Given the description of an element on the screen output the (x, y) to click on. 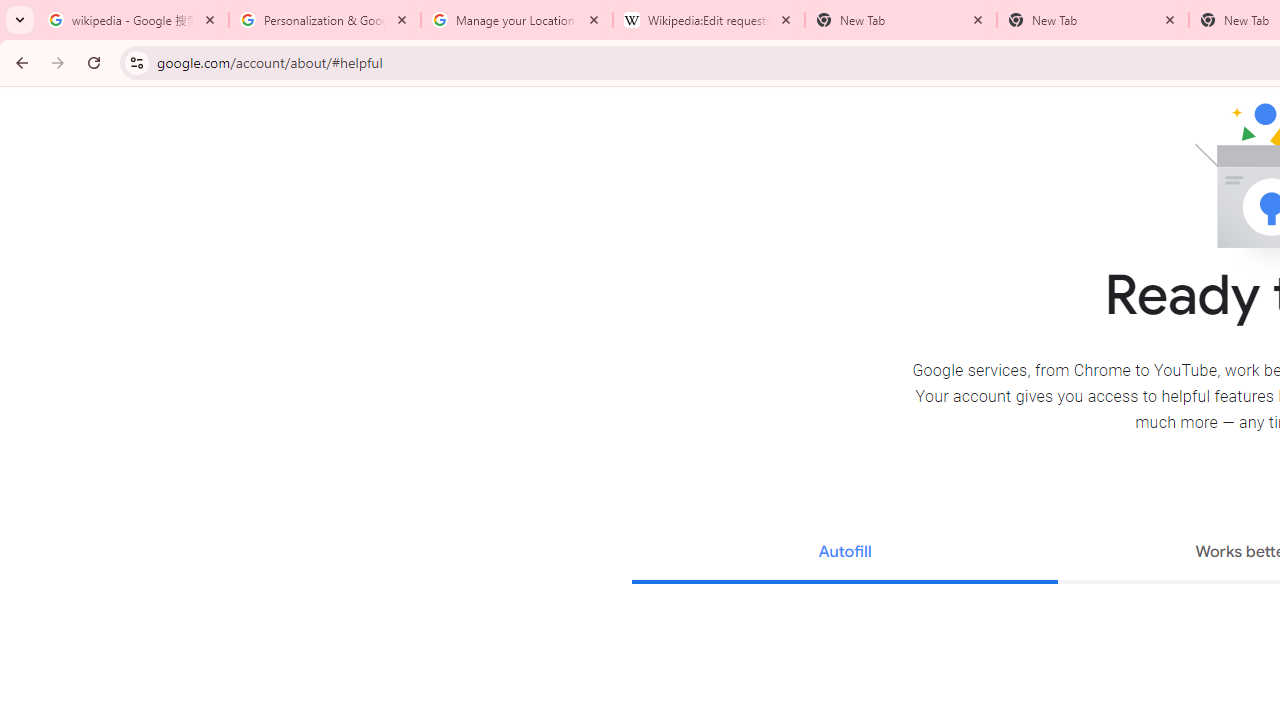
Wikipedia:Edit requests - Wikipedia (709, 20)
New Tab (1093, 20)
Manage your Location History - Google Search Help (517, 20)
Autofill (844, 553)
Personalization & Google Search results - Google Search Help (325, 20)
